Given the description of an element on the screen output the (x, y) to click on. 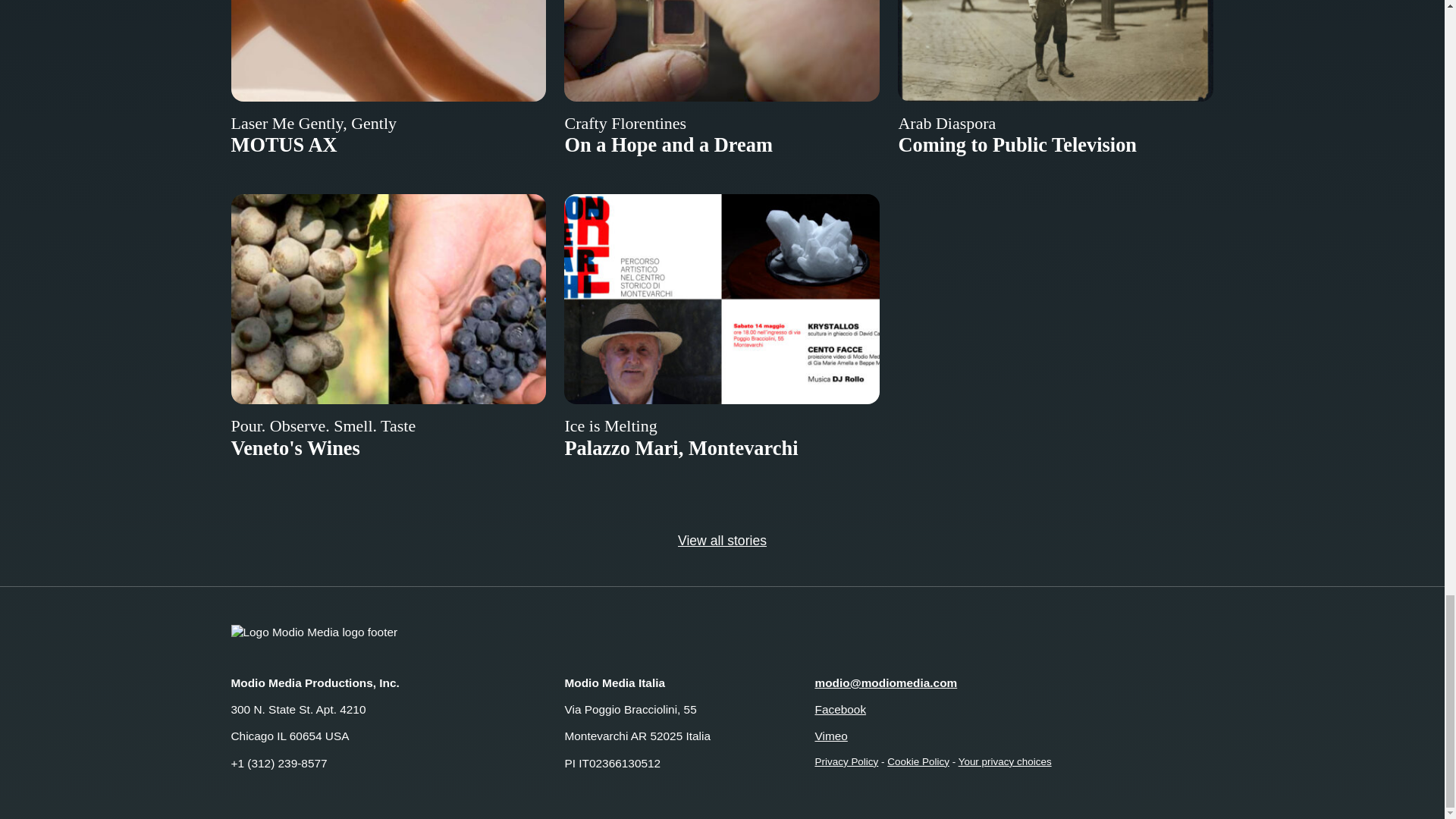
View all stories (722, 540)
Vimeo (830, 735)
Cookie Policy (917, 761)
Privacy Policy (845, 761)
Your privacy choices (1004, 761)
Facebook (839, 708)
